Given the description of an element on the screen output the (x, y) to click on. 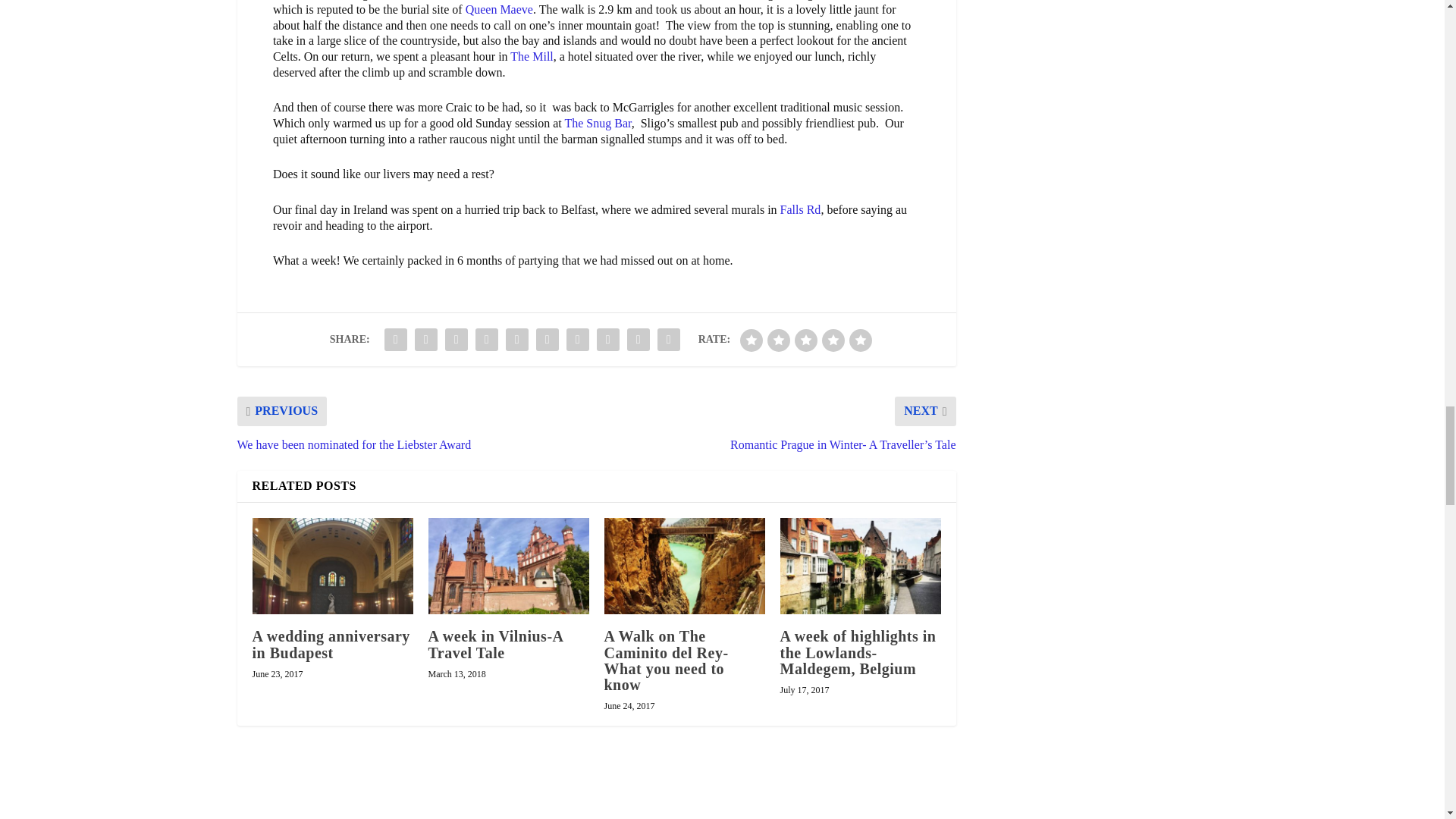
regular (805, 340)
bad (750, 340)
poor (778, 340)
